Given the description of an element on the screen output the (x, y) to click on. 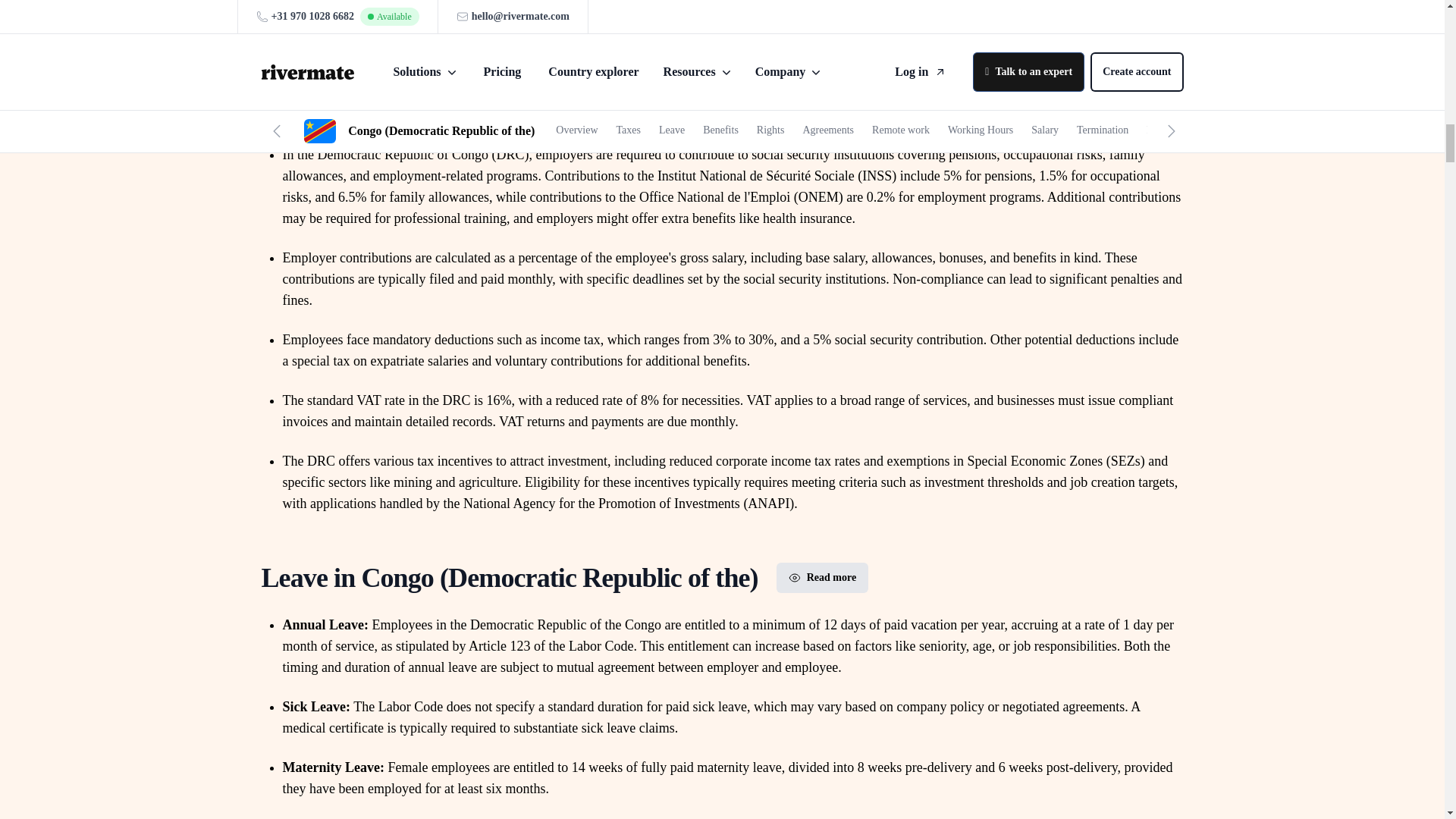
Read more (821, 577)
Read more (817, 107)
